Given the description of an element on the screen output the (x, y) to click on. 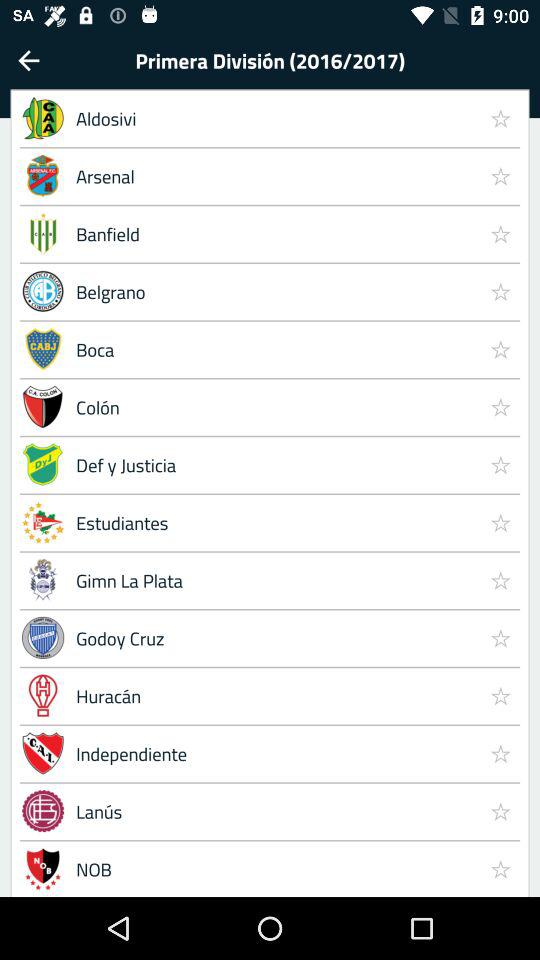
select icon next to the godoy cruz item (500, 695)
